Given the description of an element on the screen output the (x, y) to click on. 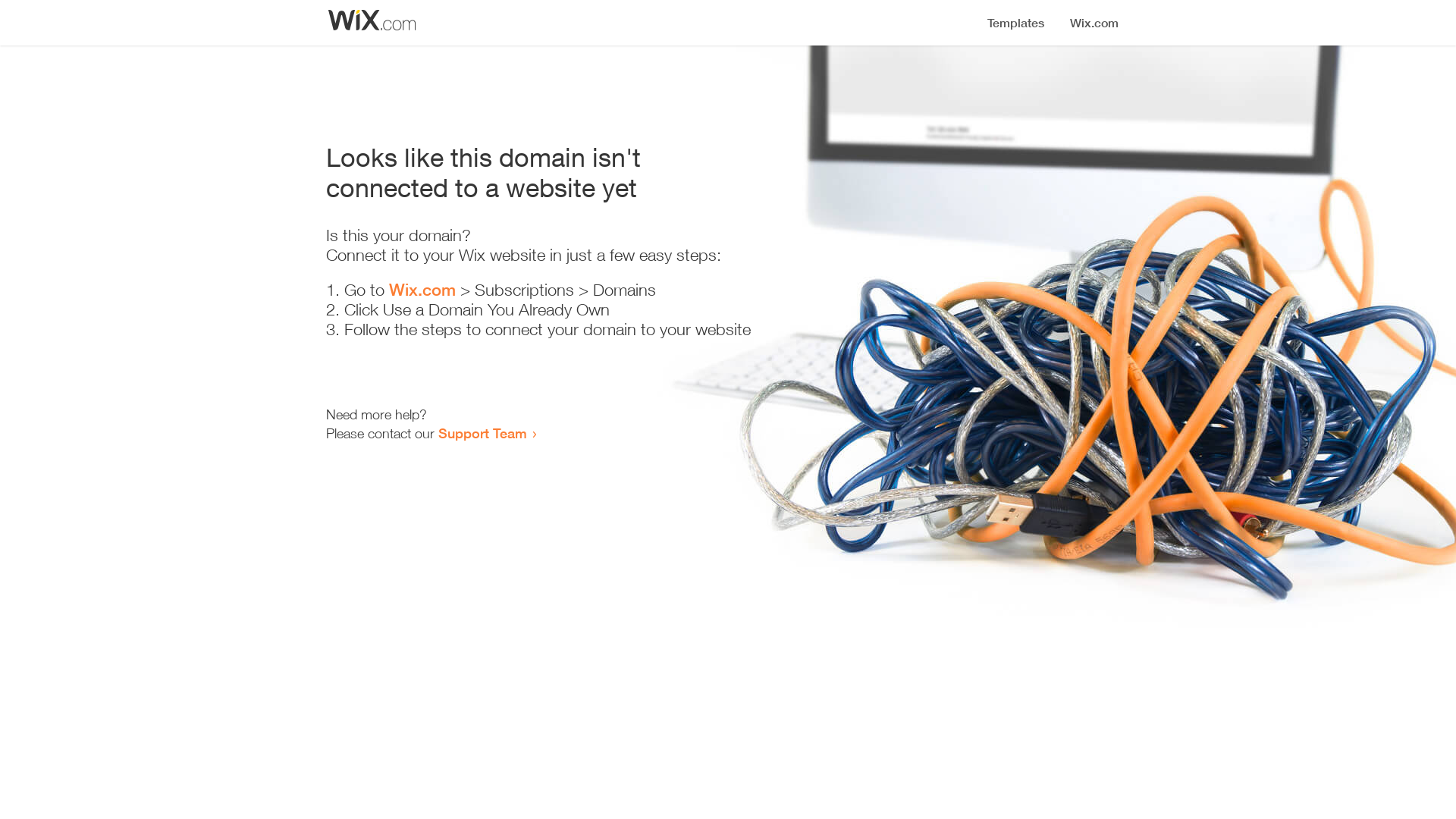
Wix.com Element type: text (422, 289)
Support Team Element type: text (482, 432)
